Given the description of an element on the screen output the (x, y) to click on. 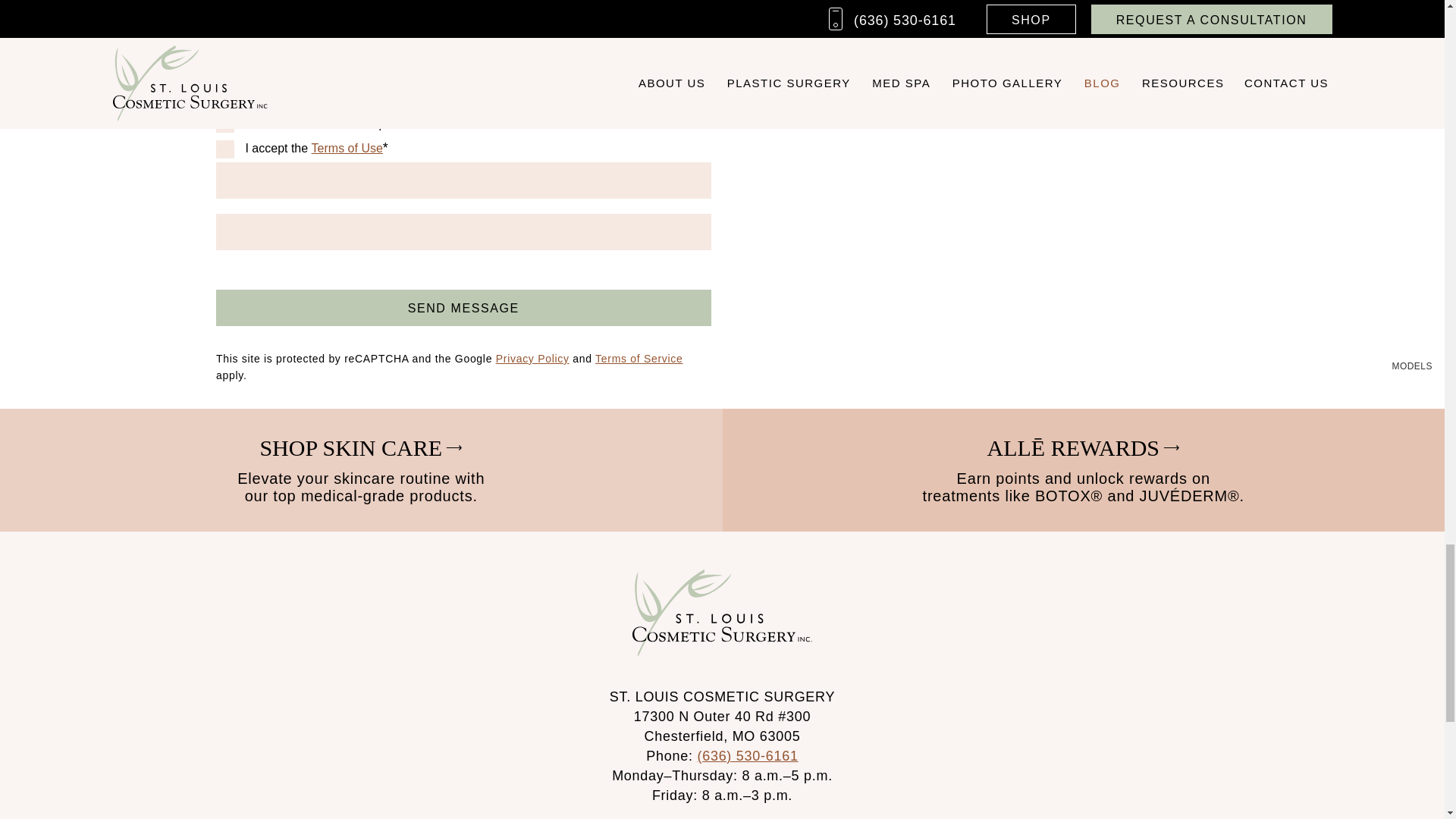
checked (224, 149)
checked (224, 123)
